Given the description of an element on the screen output the (x, y) to click on. 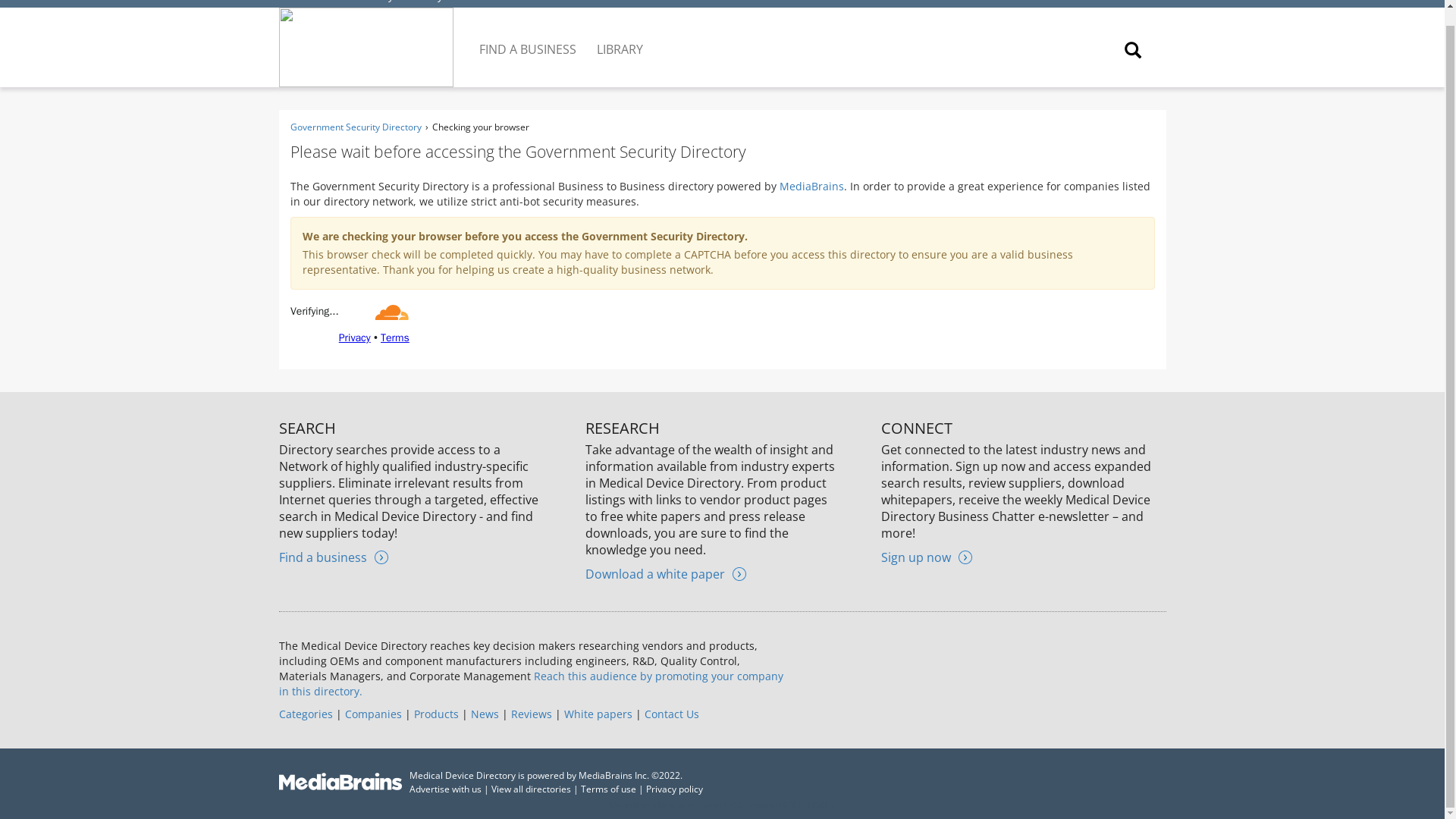
Government Security Directory (354, 126)
Terms of use (608, 788)
Contact Us (671, 713)
News (483, 713)
Download a white paper (665, 573)
MediaBrains (811, 186)
Privacy policy (674, 788)
FIND A BUSINESS (528, 37)
Reviews (531, 713)
Advertise with us (445, 788)
LIBRARY (620, 37)
Sign up now (926, 556)
Companies (372, 713)
Products (435, 713)
